Given the description of an element on the screen output the (x, y) to click on. 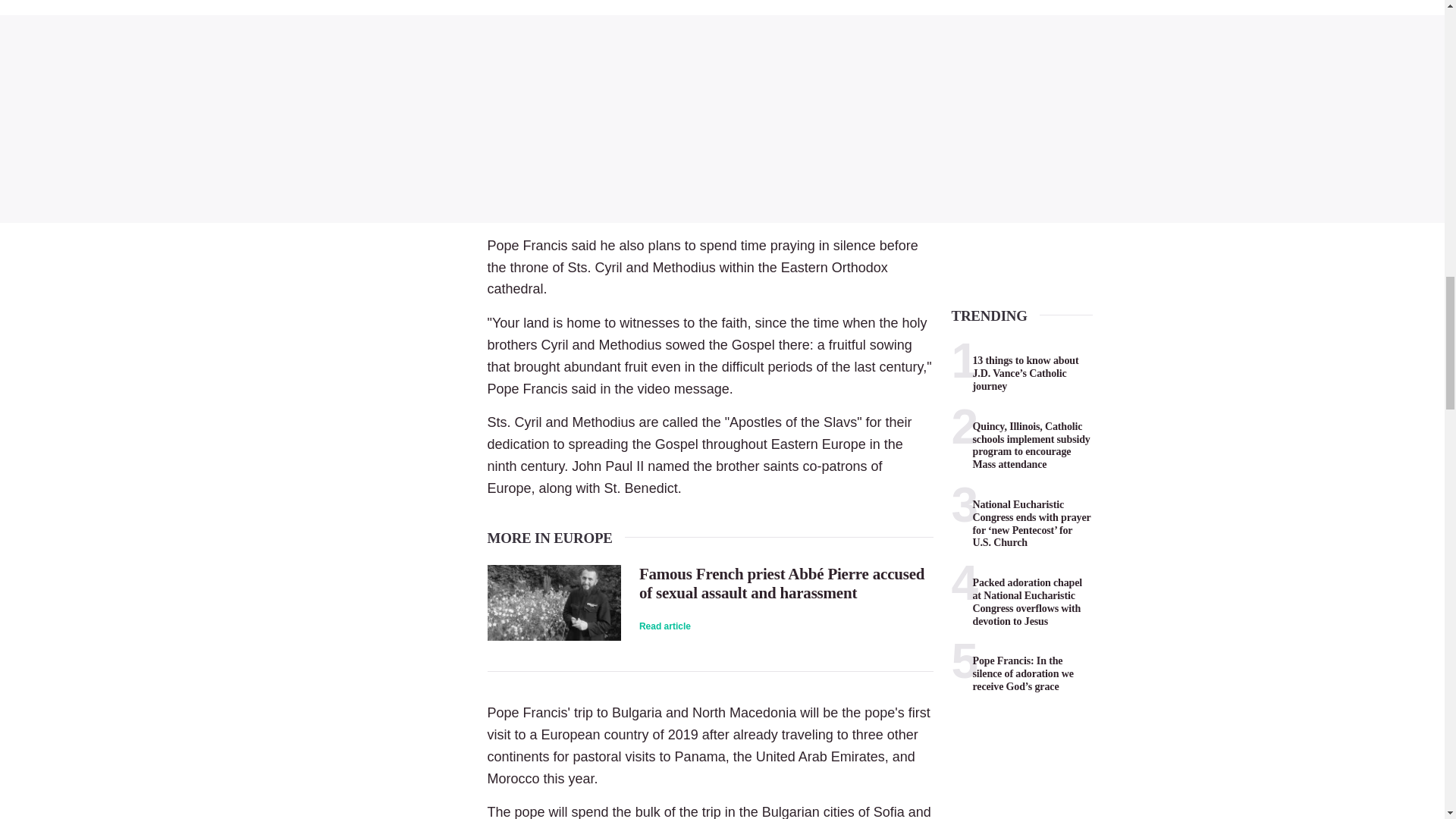
3rd party ad content (721, 118)
